Given the description of an element on the screen output the (x, y) to click on. 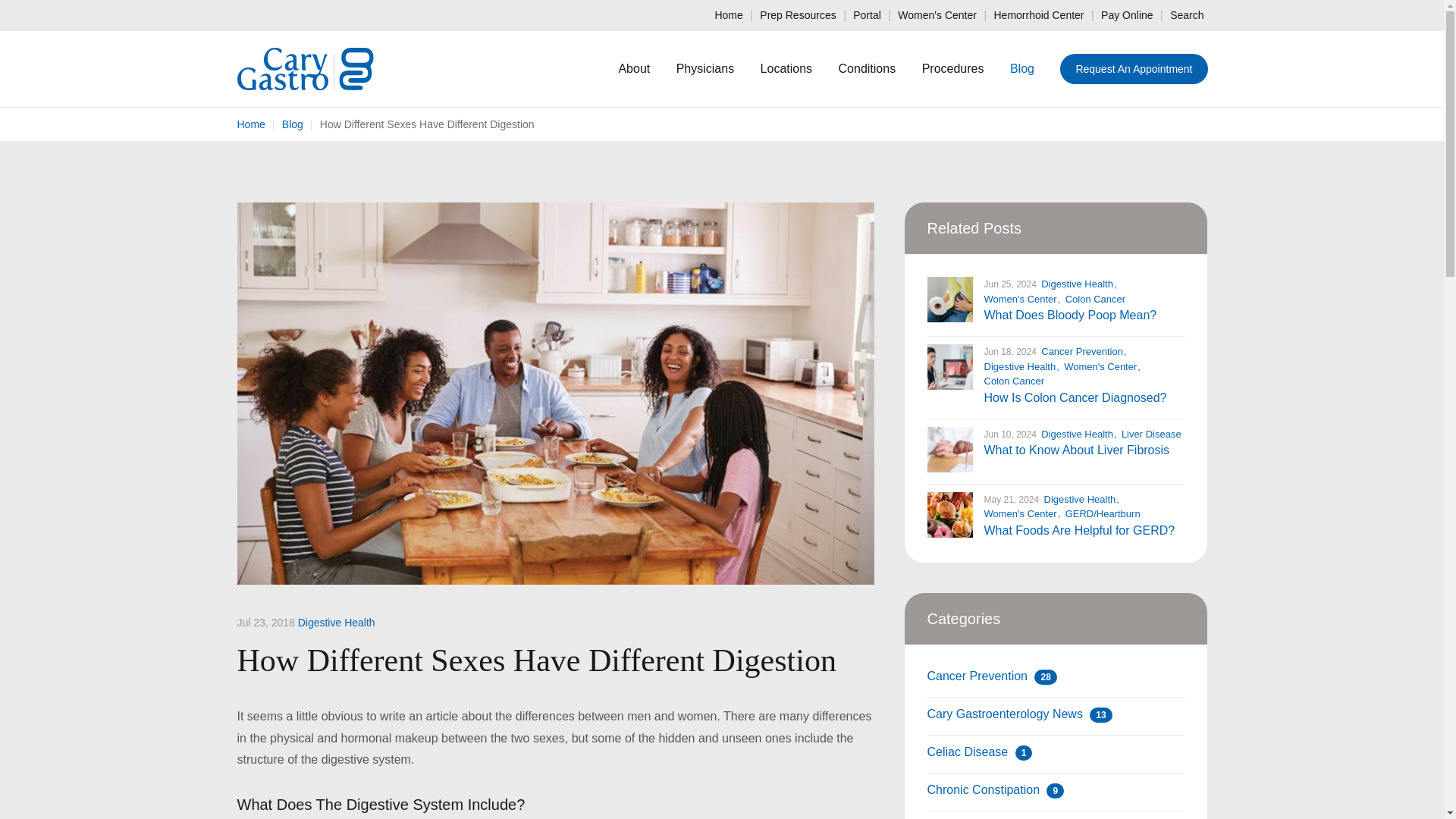
Women's Center (937, 15)
Digestive Health (336, 622)
Request An Appointment (1133, 69)
Blog (292, 123)
Home (249, 123)
Cancer Prevention (1083, 351)
Portal (866, 15)
Prep Resources (797, 15)
Pay Online (1126, 15)
Prep Resources (797, 15)
Request An Appointment (1133, 69)
Blood in Stool 2 (949, 299)
Home (728, 15)
What Does Bloody Poop Mean? (1070, 314)
Search (1188, 15)
